Given the description of an element on the screen output the (x, y) to click on. 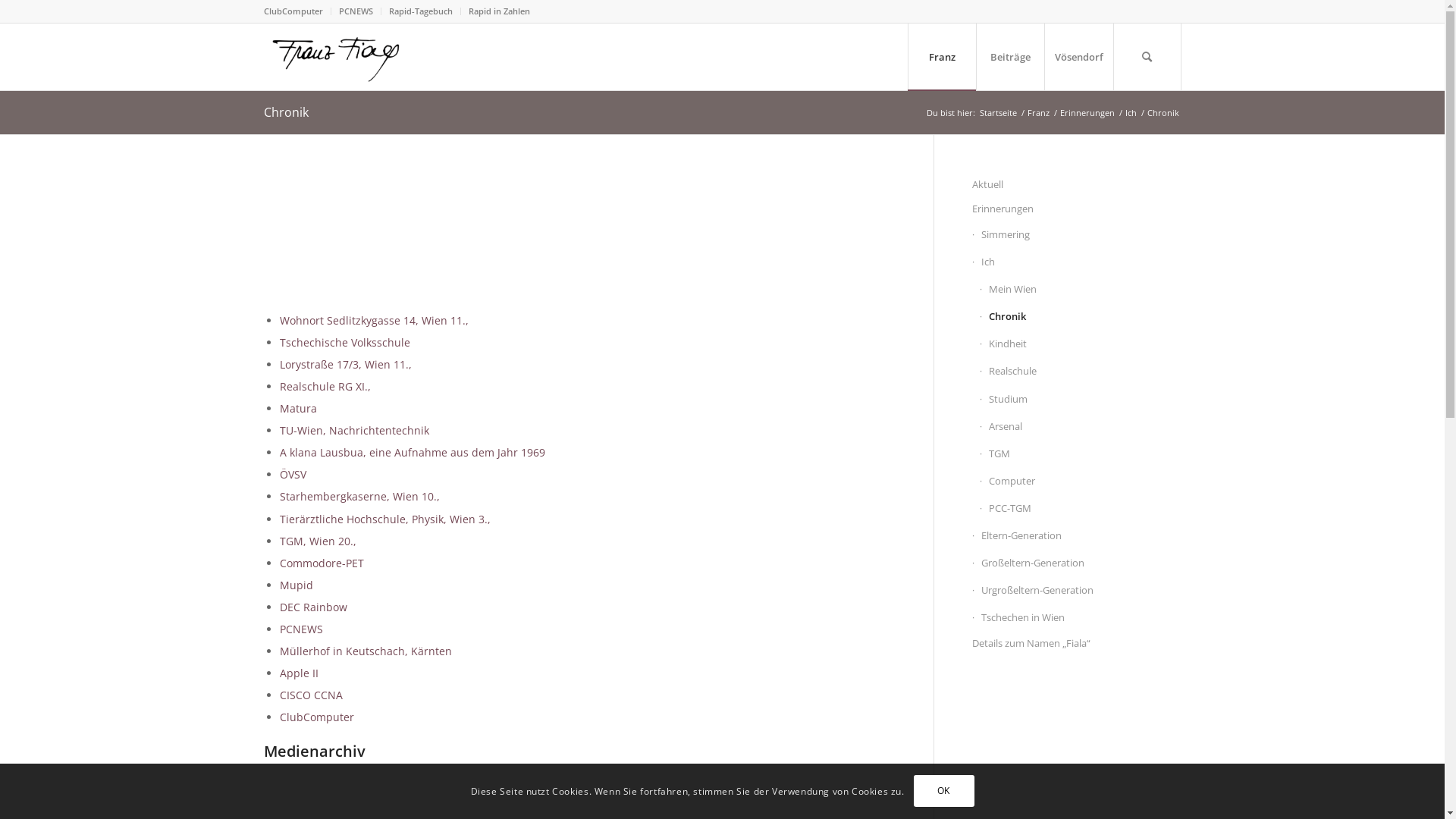
DEC Rainbow Element type: text (312, 606)
Mein Wien Element type: text (1080, 289)
Wohnort Sedlitzkygasse 14, Wien 11., Element type: text (373, 320)
Tschechische Volksschule Element type: text (344, 342)
A klana Lausbua, eine Aufnahme aus dem Jahr 1969 Element type: text (411, 452)
TGM Element type: text (1080, 453)
Ich Element type: text (1076, 262)
Eltern-Generation Element type: text (1076, 535)
Realschule Element type: text (1080, 371)
CISCO CCNA Element type: text (310, 694)
Rapid in Zahlen Element type: text (499, 10)
Starhembergkaserne, Wien 10., Element type: text (359, 496)
Simmering Element type: text (1076, 234)
PCNEWS Element type: text (300, 628)
Arsenal Element type: text (1080, 426)
ClubComputer Element type: text (293, 10)
Matura Element type: text (297, 408)
Startseite Element type: text (997, 112)
Tschechen in Wien Element type: text (1076, 617)
Apple II Element type: text (298, 672)
PCC-TGM Element type: text (1080, 508)
Aktuell Element type: text (1076, 184)
Computer Element type: text (1080, 481)
ClubComputer Element type: text (316, 716)
Ich Element type: text (1130, 112)
PCNEWS Element type: text (355, 10)
Franz Element type: text (1038, 112)
Mupid Element type: text (295, 584)
Erinnerungen Element type: text (1076, 209)
Franz Element type: text (940, 56)
Chronik Element type: text (285, 111)
Erinnerungen Element type: text (1086, 112)
TGM, Wien 20., Element type: text (317, 540)
Realschule RG XI., Element type: text (324, 386)
Commodore-PET Element type: text (321, 562)
Rapid-Tagebuch Element type: text (419, 10)
Chronik Element type: text (1080, 316)
Studium Element type: text (1080, 399)
OK Element type: text (943, 790)
TU-Wien, Nachrichtentechnik Element type: text (353, 430)
Kindheit Element type: text (1080, 343)
